Given the description of an element on the screen output the (x, y) to click on. 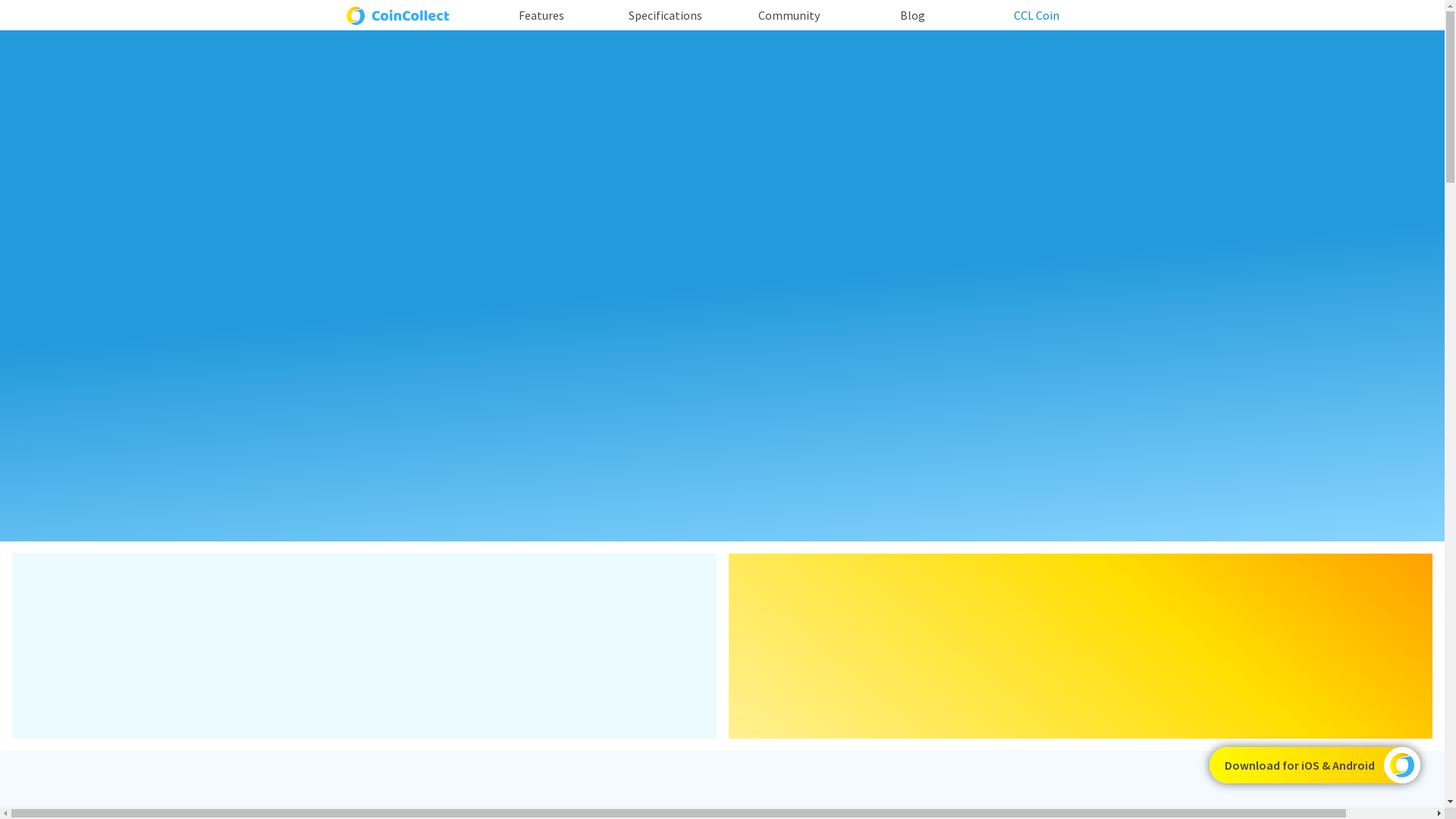
CCL Coin Element type: text (1036, 15)
Blog Element type: text (912, 15)
Community Element type: text (788, 15)
Specifications Element type: text (665, 15)
Features Element type: text (541, 15)
Download for iOS & Android Element type: text (1314, 764)
